Given the description of an element on the screen output the (x, y) to click on. 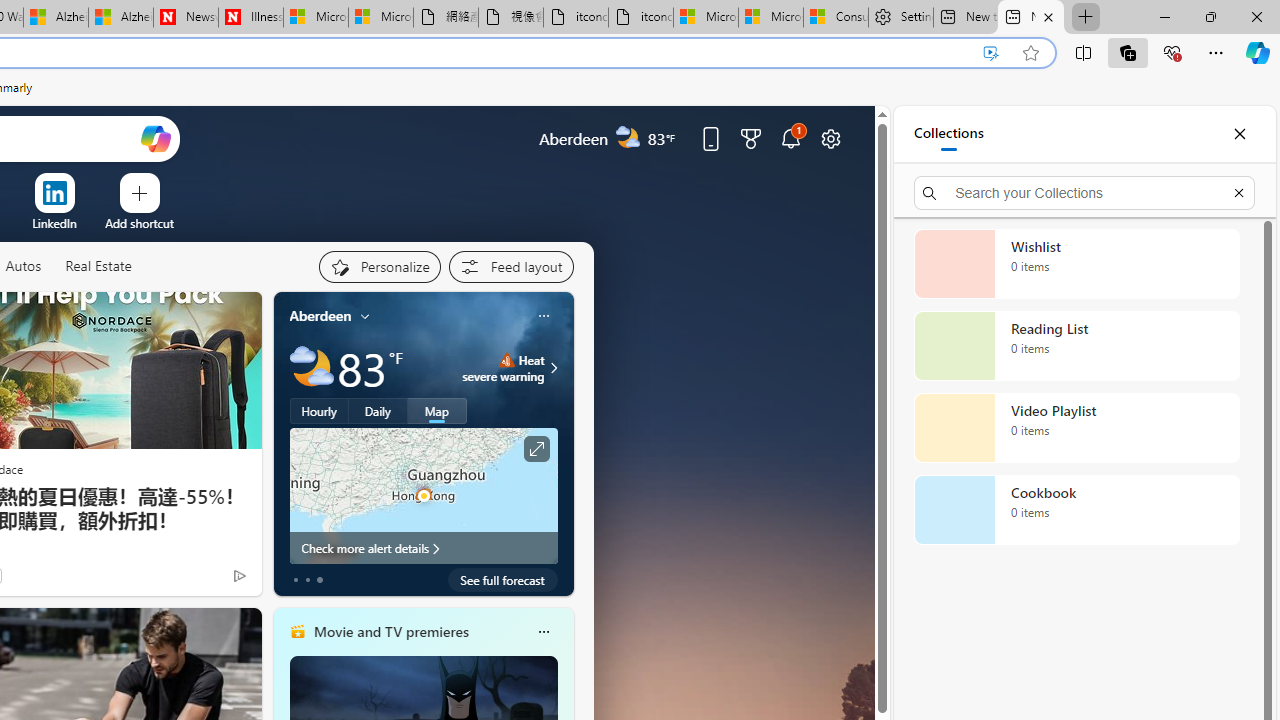
itconcepthk.com/projector_solutions.mp4 (641, 17)
See full forecast (502, 579)
Illness news & latest pictures from Newsweek.com (250, 17)
Heat - Severe (505, 359)
Newsweek - News, Analysis, Politics, Business, Technology (185, 17)
Heat - Severe Heat severe warning (503, 367)
Reading List collection, 0 items (1076, 345)
Class: icon-img (543, 632)
Personalize your feed" (379, 266)
